Given the description of an element on the screen output the (x, y) to click on. 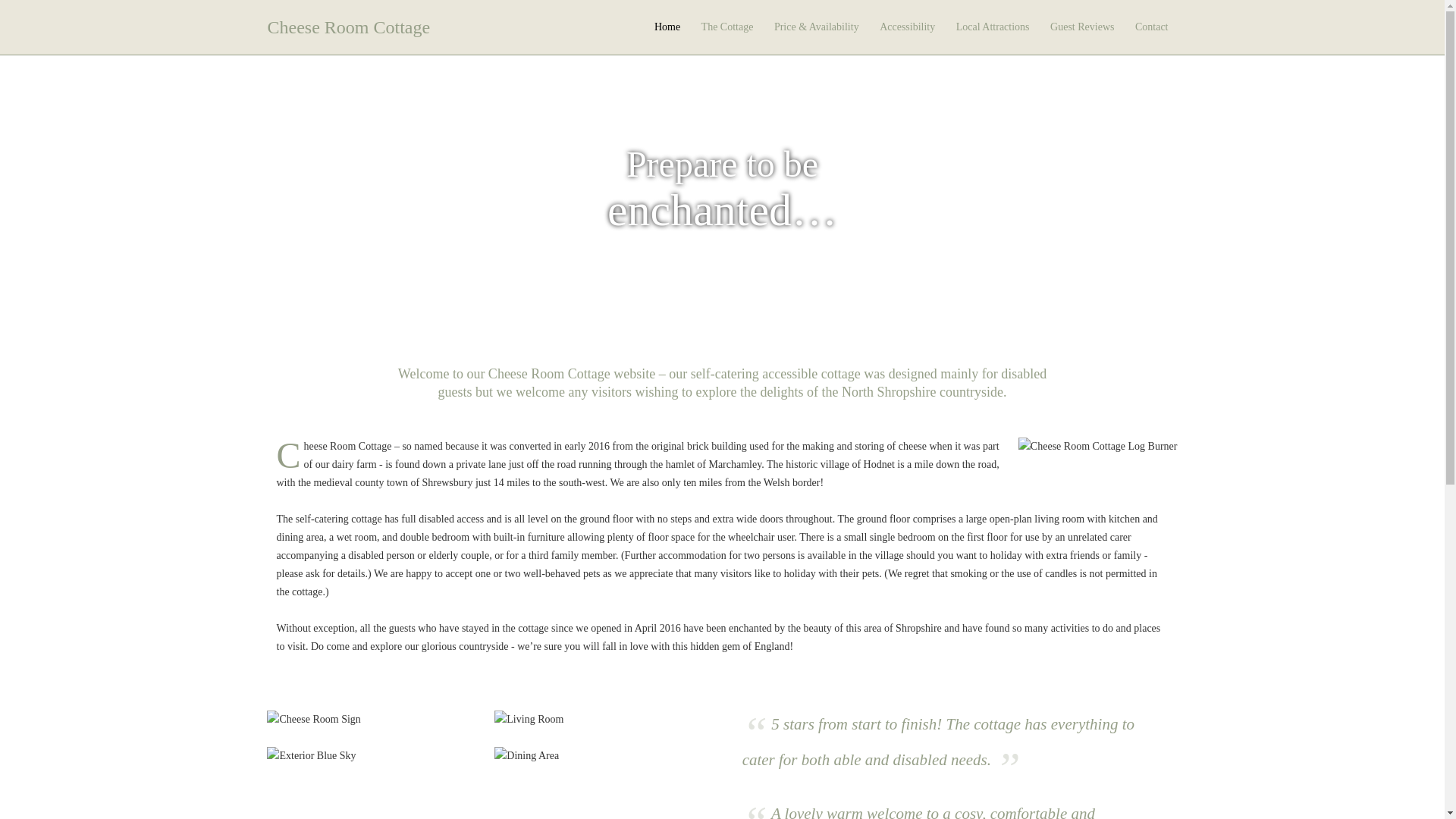
Guest Reviews (1081, 26)
Local Attractions (993, 26)
The Cottage (727, 26)
Contact (1151, 26)
Home (666, 26)
Cheese Room Cottage (347, 27)
Accessibility (906, 26)
